Given the description of an element on the screen output the (x, y) to click on. 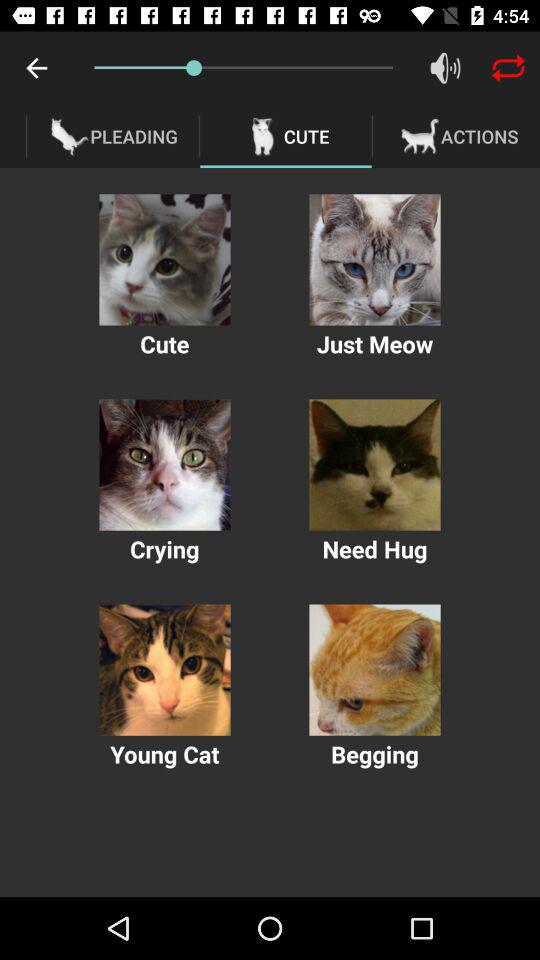
pay sound (374, 259)
